Given the description of an element on the screen output the (x, y) to click on. 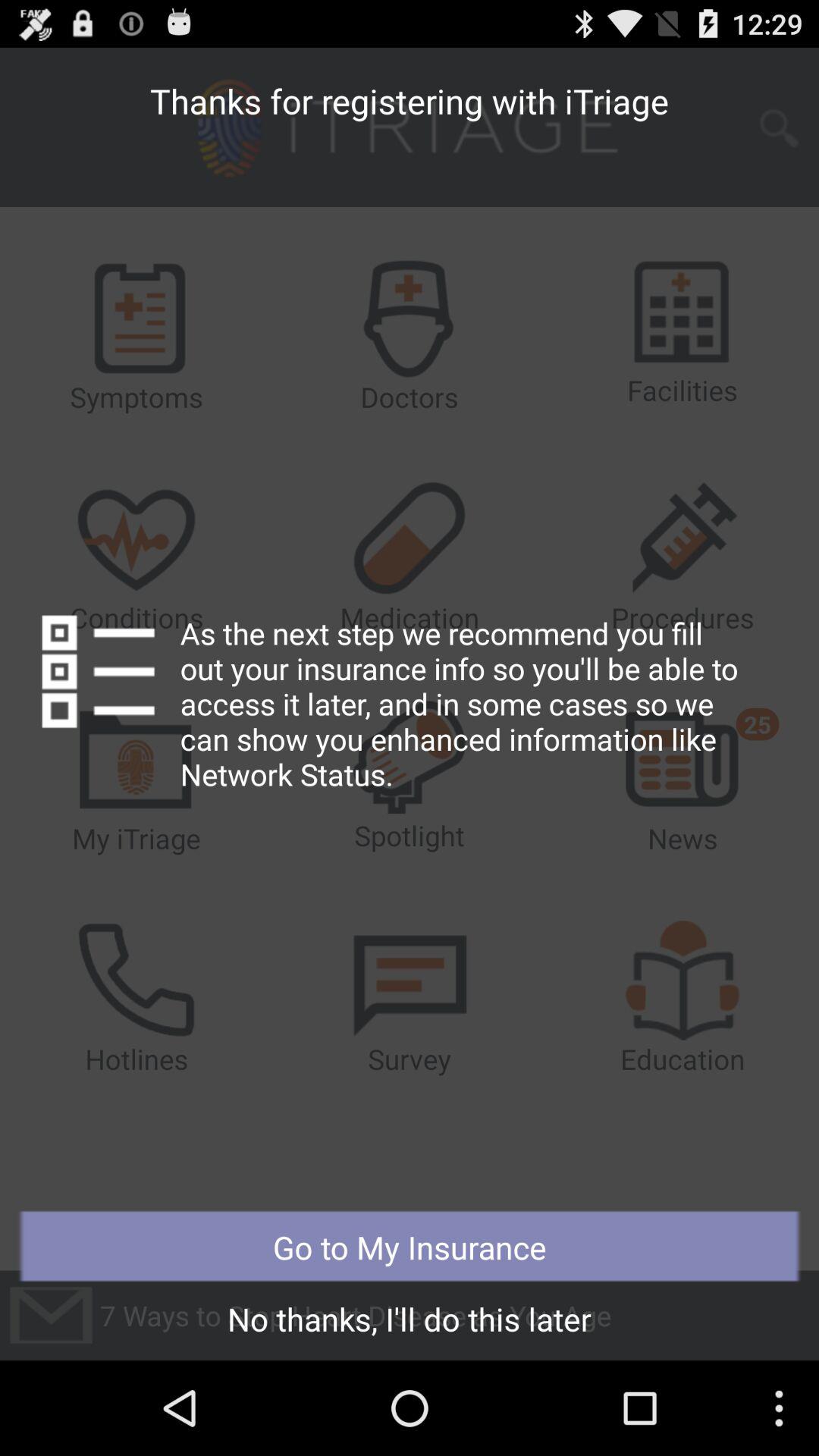
flip until go to my icon (409, 1247)
